Given the description of an element on the screen output the (x, y) to click on. 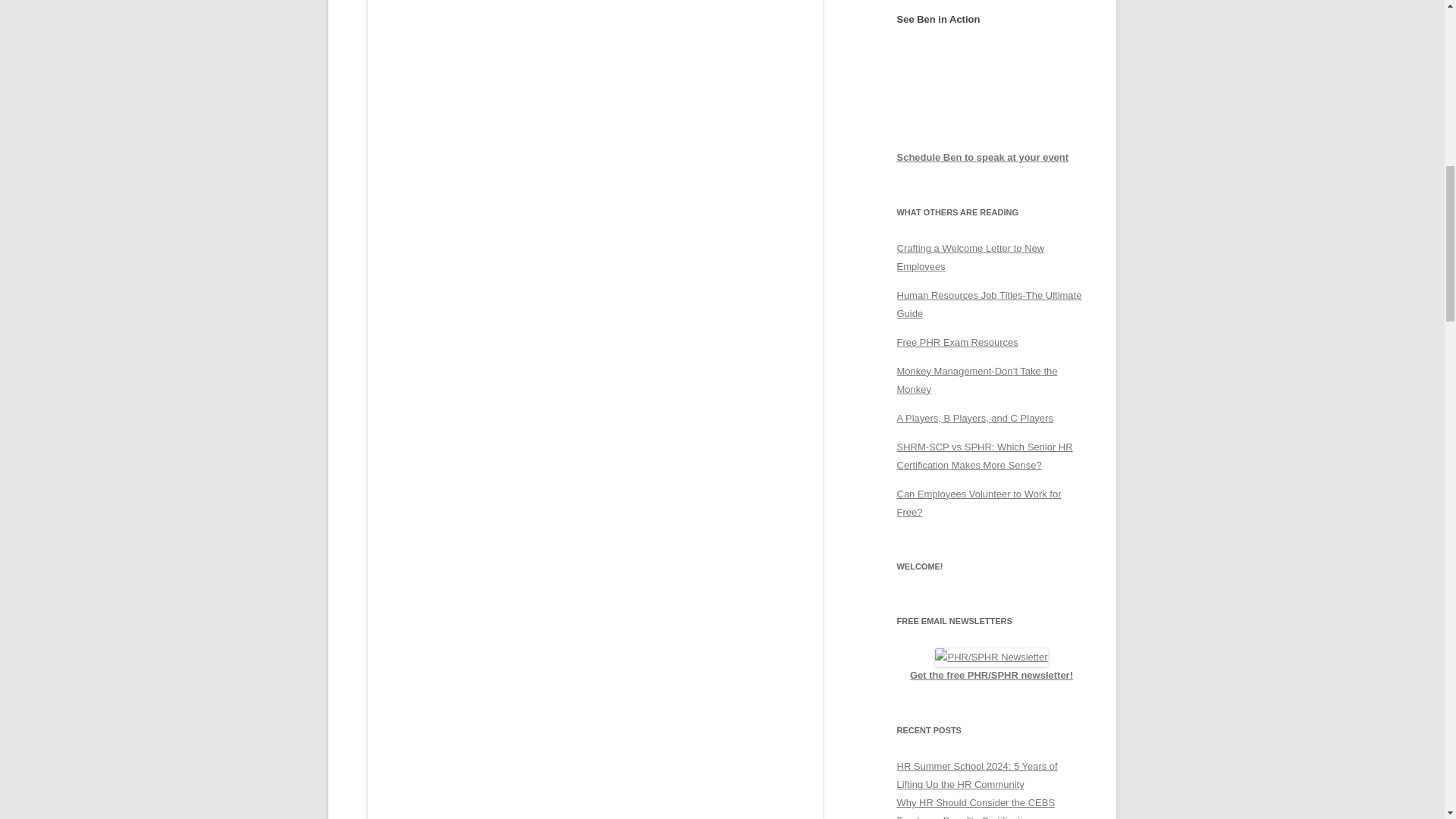
Crafting a Welcome Letter to New Employees (969, 256)
A Players, B Players, and C Players (974, 418)
Can Employees Volunteer to Work for Free? (978, 502)
Human Resources Job Titles-The Ultimate Guide (988, 304)
Schedule Ben to speak at your event (982, 156)
Free PHR Exam Resources (956, 342)
